Given the description of an element on the screen output the (x, y) to click on. 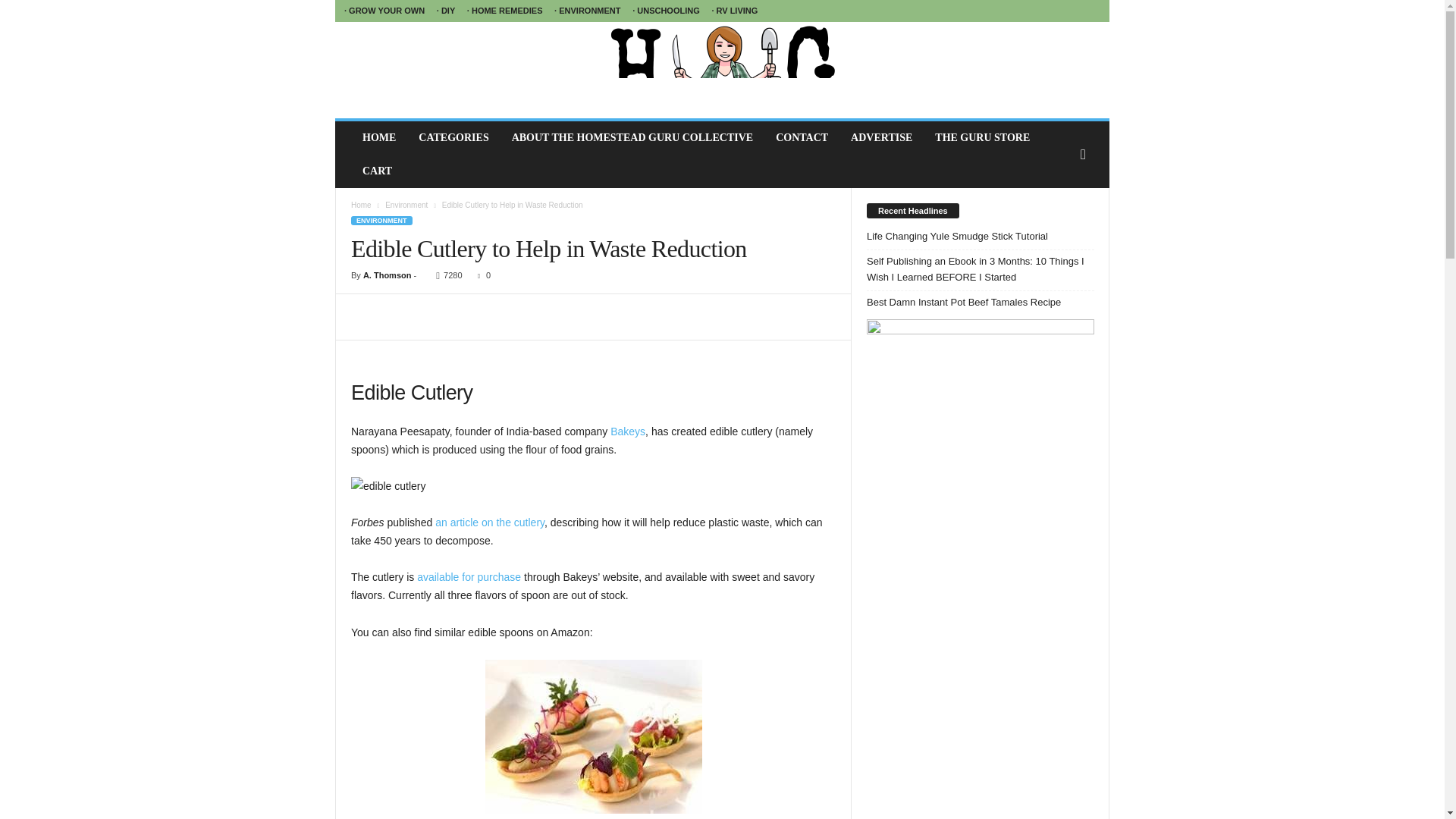
CATEGORIES (453, 137)
HG (721, 69)
HOME (378, 137)
View all posts in Environment (406, 204)
ABOUT THE HOMESTEAD GURU COLLECTIVE (632, 137)
